Given the description of an element on the screen output the (x, y) to click on. 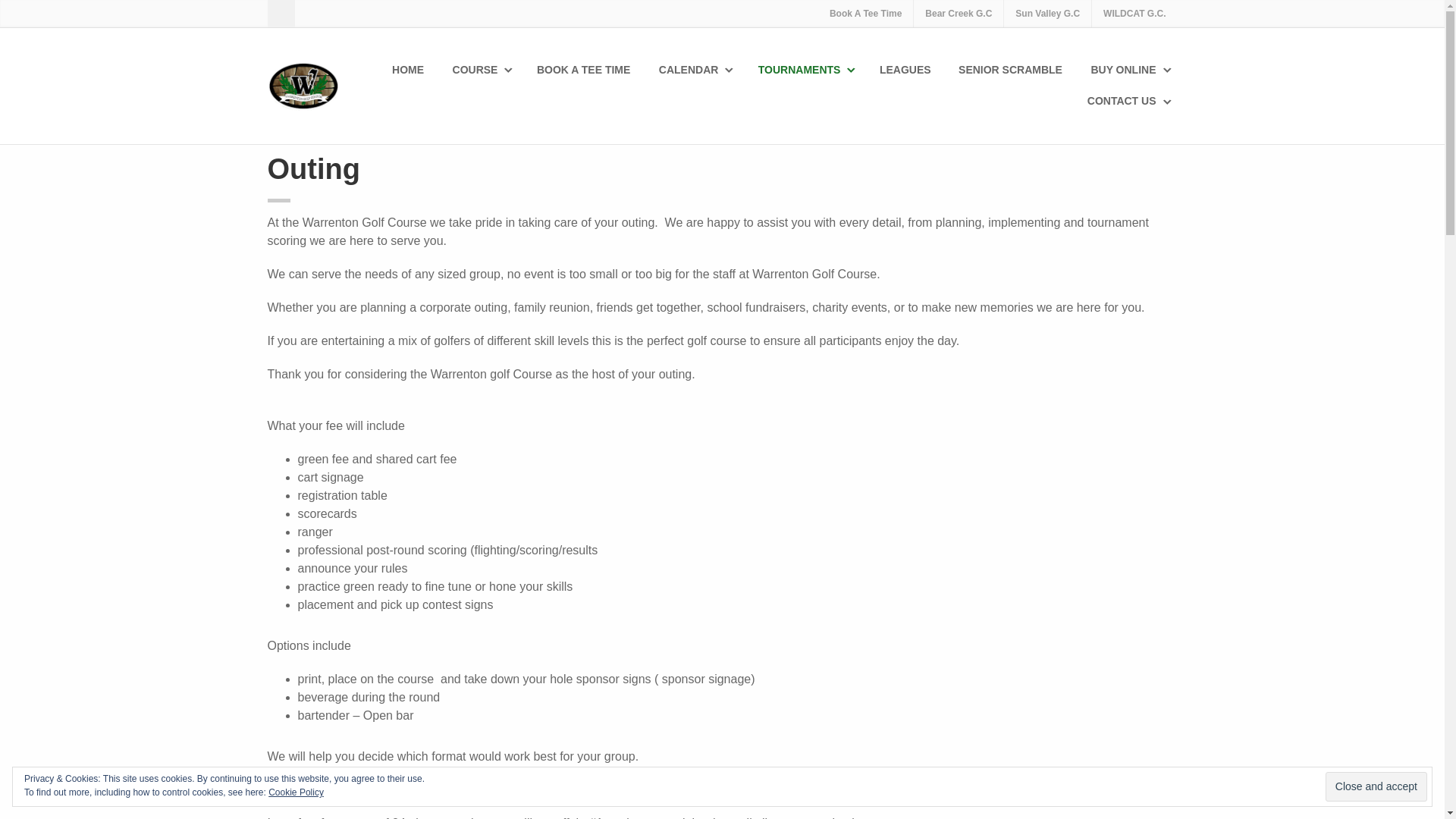
BOOK A TEE TIME (584, 69)
HOME (408, 69)
SENIOR SCRAMBLE (1010, 69)
LEAGUES (906, 69)
CALENDAR (694, 70)
COURSE (481, 70)
TOURNAMENTS (806, 70)
Close and accept (1375, 786)
Bear Creek G.C (958, 13)
BUY ONLINE (1129, 70)
CONTACT US (1128, 101)
Book A Tee Time (865, 13)
Sun Valley G.C (1047, 13)
WILDCAT G.C. (1134, 13)
